Given the description of an element on the screen output the (x, y) to click on. 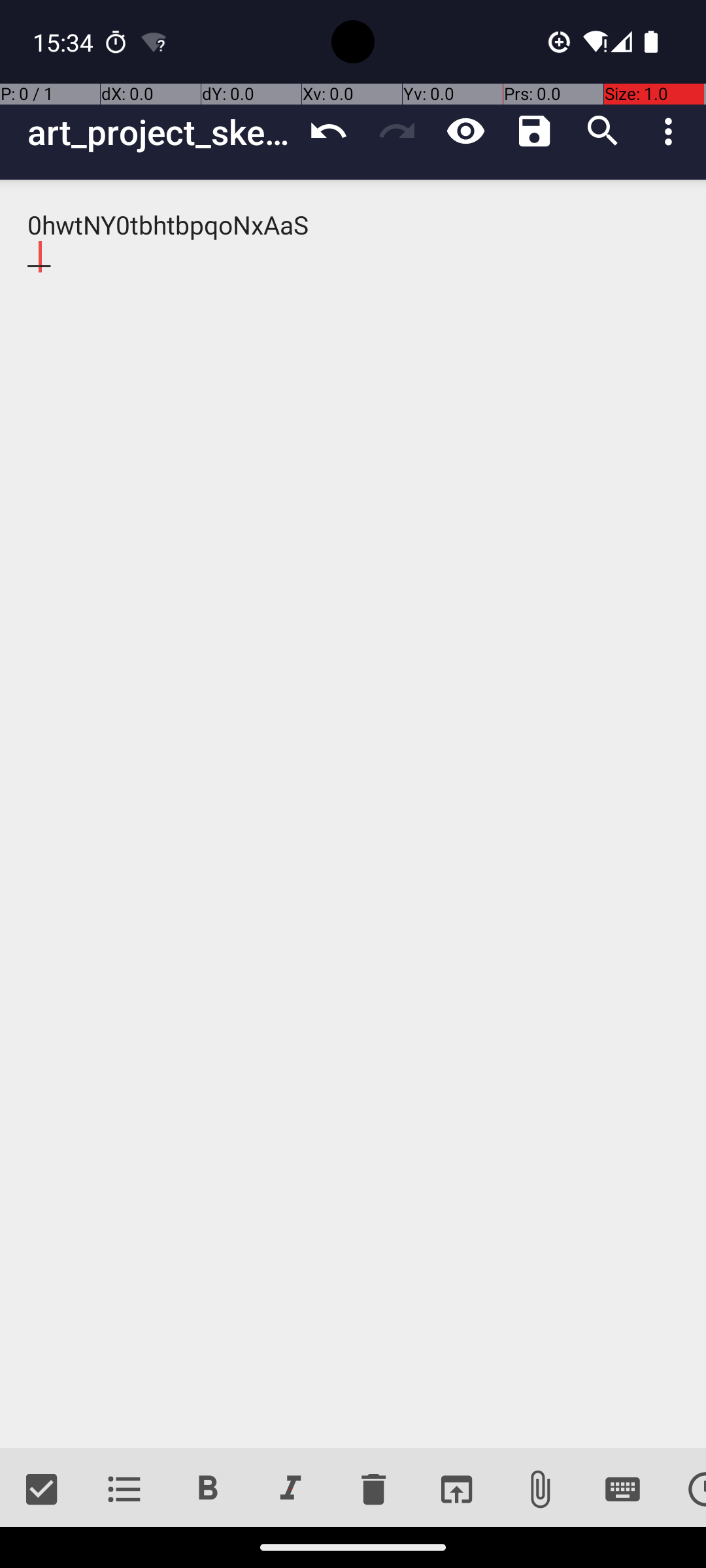
art_project_sketches_2023_04_10 Element type: android.widget.TextView (160, 131)
0hwtNY0tbhtbpqoNxAaS
__ Element type: android.widget.EditText (353, 813)
